Given the description of an element on the screen output the (x, y) to click on. 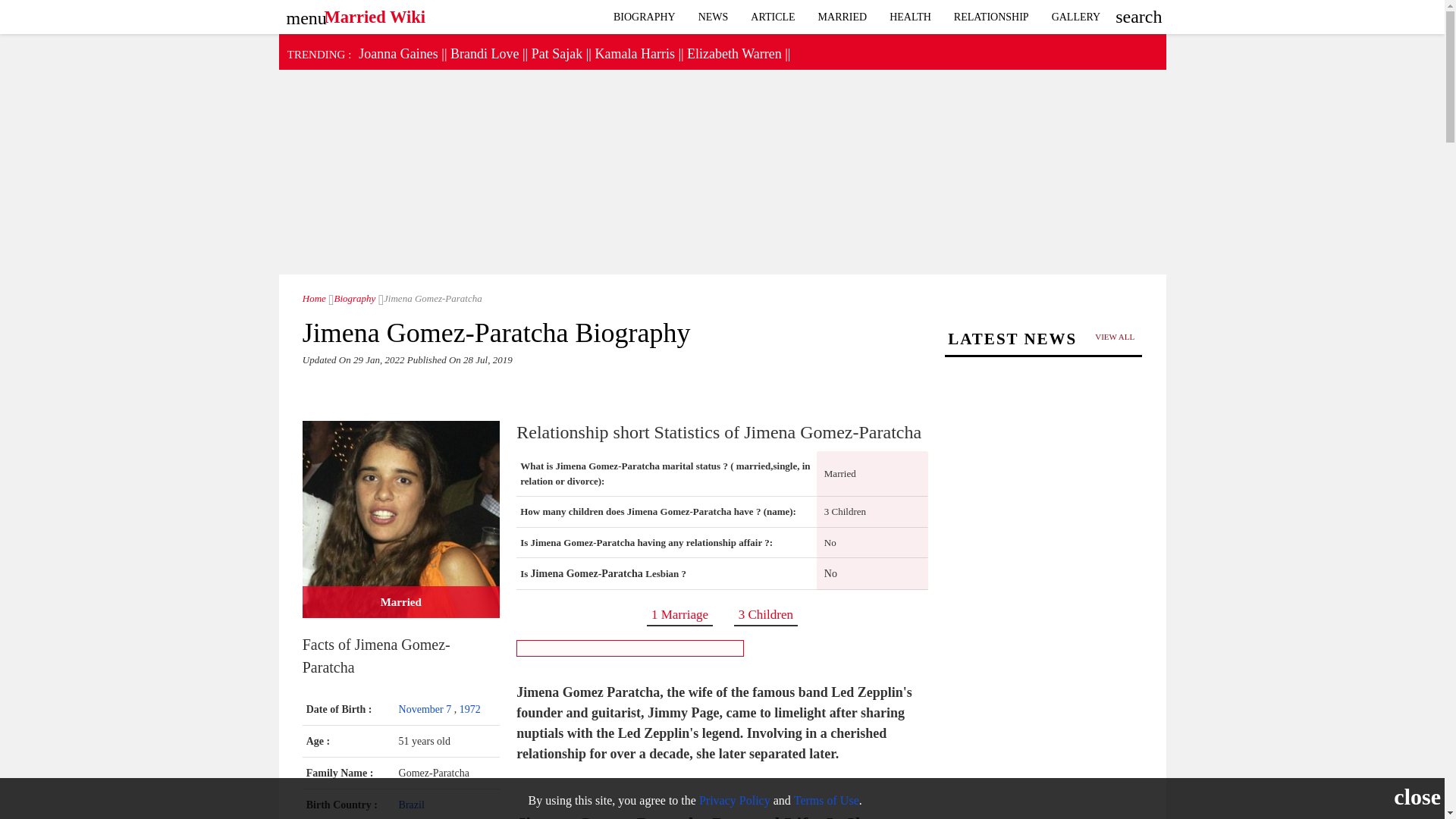
BIOGRAPHY (644, 17)
1972 (470, 708)
Married Wiki (314, 297)
RELATIONSHIP (991, 17)
Joanna Gaines (398, 53)
Pat Sajak (557, 53)
Article (772, 17)
Pat Sajak (557, 53)
Relationship (991, 17)
NEWS (713, 17)
